Given the description of an element on the screen output the (x, y) to click on. 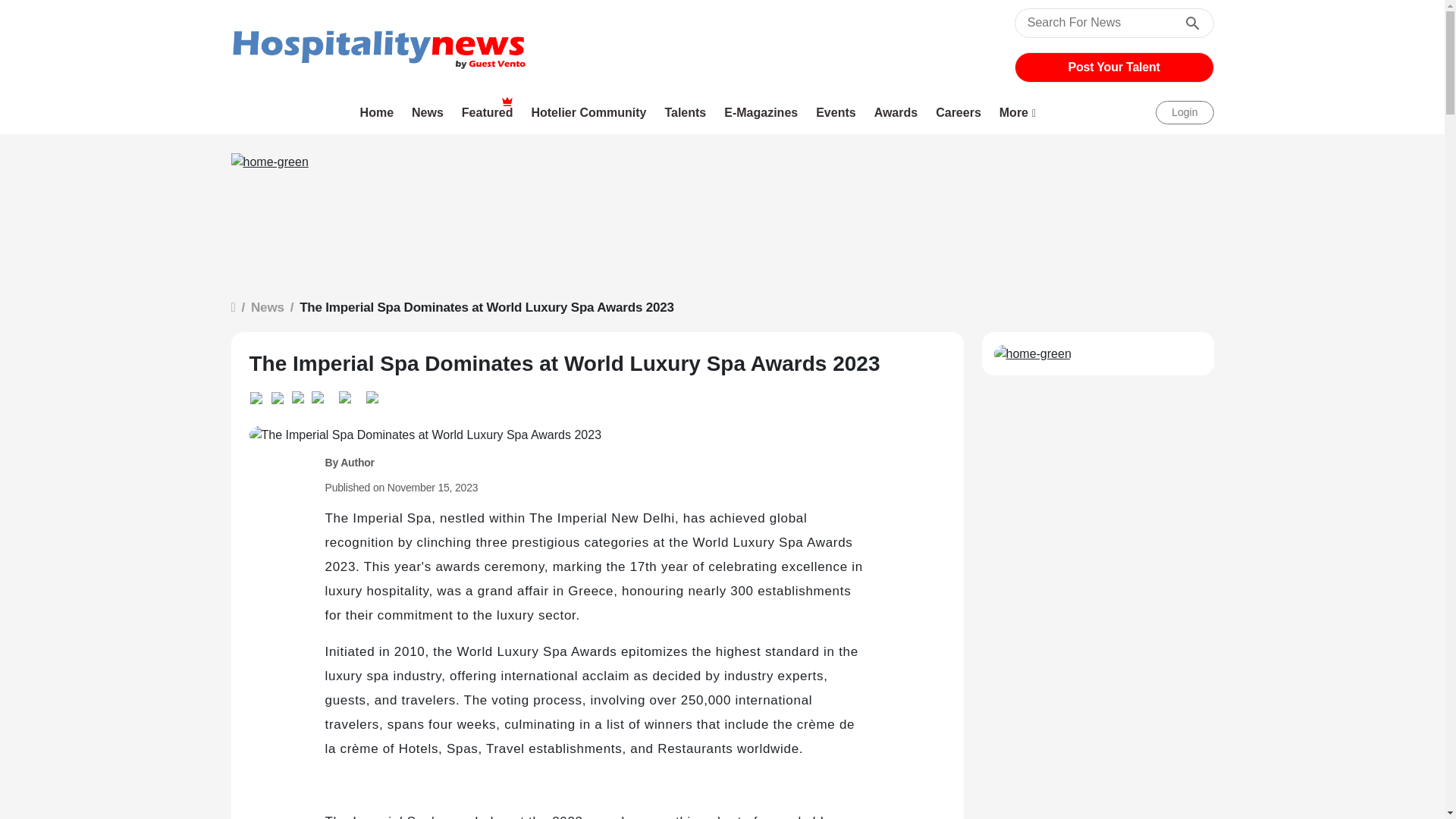
Post Your Talent (1114, 67)
Copy (344, 394)
Facebook (320, 394)
Linkedin (280, 395)
Twitter (301, 394)
Whatsapp (258, 395)
News (427, 112)
Save (371, 394)
Home (378, 112)
